Given the description of an element on the screen output the (x, y) to click on. 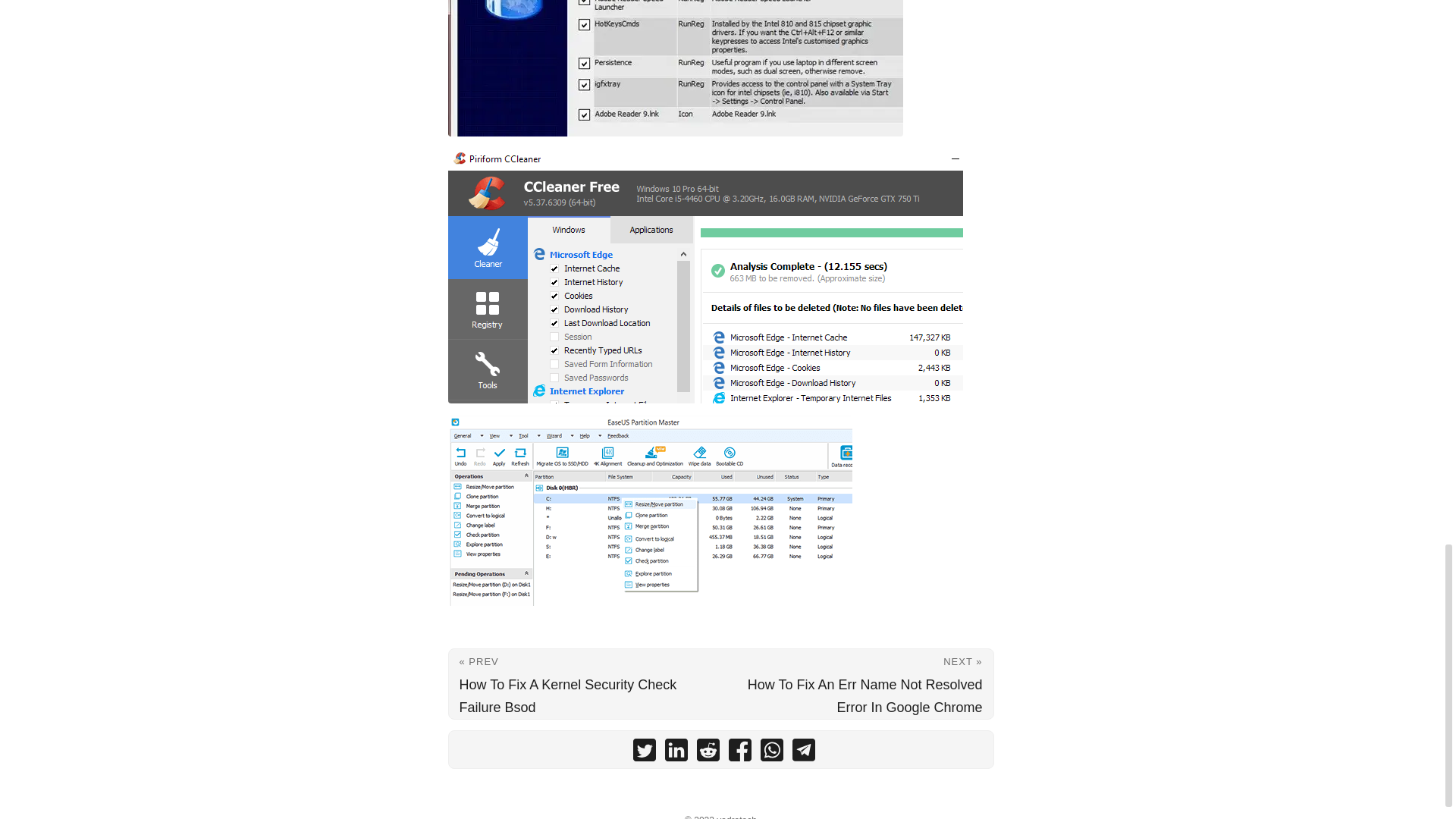
vadratech (736, 816)
